Given the description of an element on the screen output the (x, y) to click on. 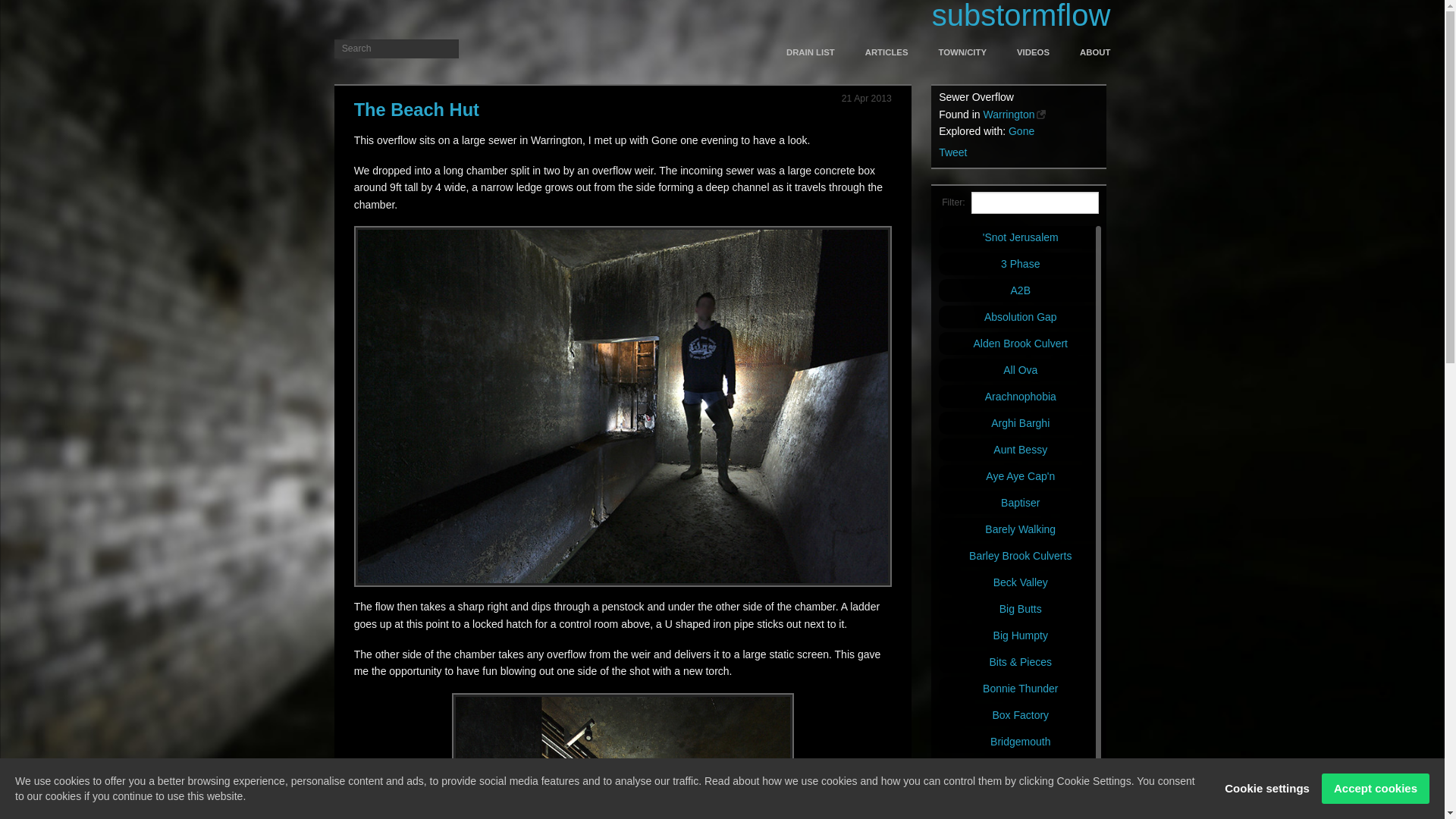
Brown Source (1020, 767)
The Beach Hut (416, 109)
Aye Aye Cap'n (1020, 476)
Big Humpty (1020, 635)
Alden Brook Culvert (1020, 343)
Warrington (1013, 114)
ARTICLES (886, 52)
Arachnophobia (1020, 395)
'Snot Jerusalem (1020, 237)
substormflow (1020, 15)
Aunt Bessy (1020, 449)
ABOUT (1086, 52)
VIDEOS (1032, 52)
Bridgemouth (1020, 741)
Absolution Gap (1020, 316)
